Given the description of an element on the screen output the (x, y) to click on. 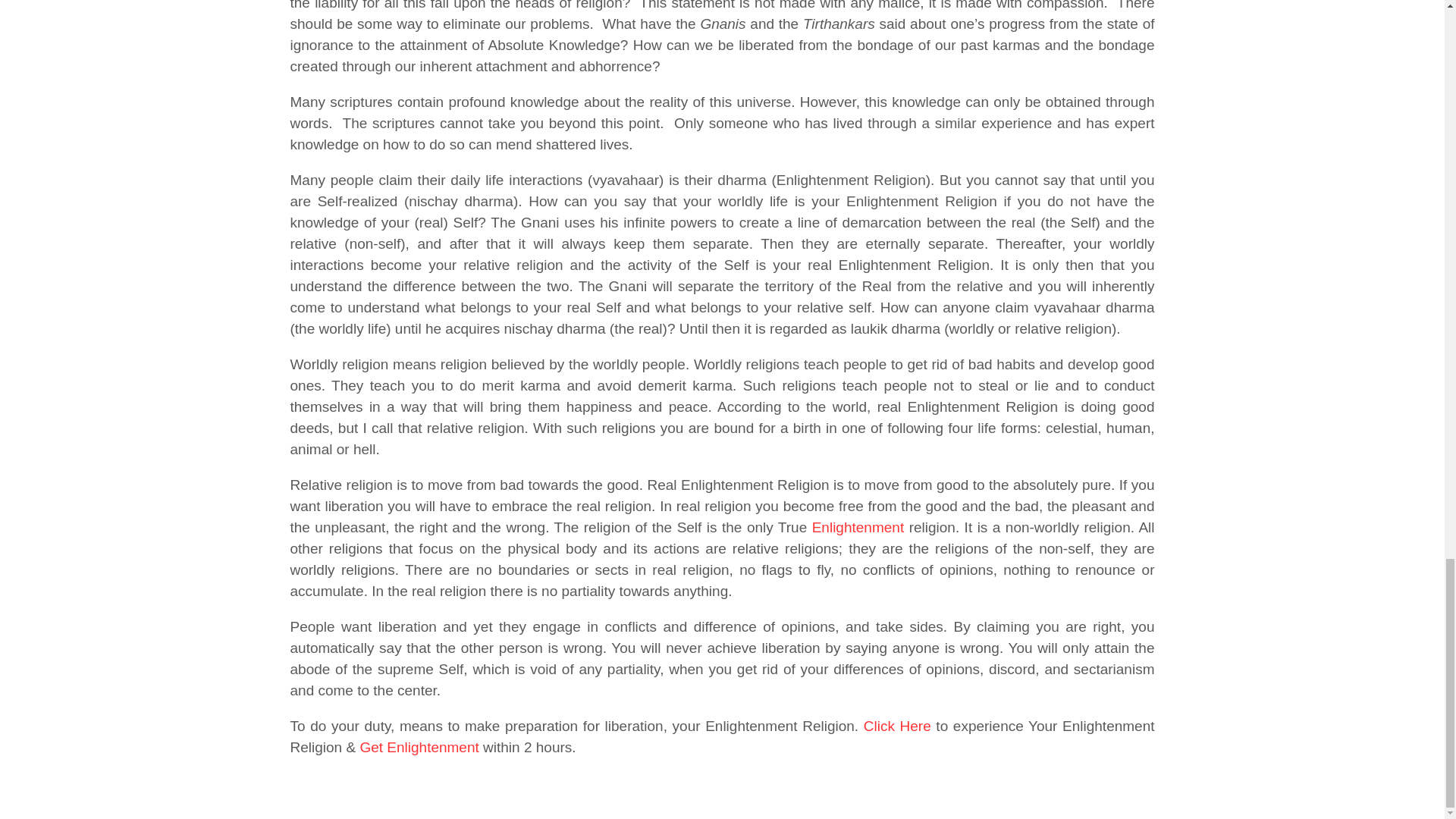
Get Enlightenment (419, 747)
Enlightenment (858, 527)
Get Enlightenment (419, 747)
Click Here (897, 725)
What is Enlightenment (858, 527)
